Given the description of an element on the screen output the (x, y) to click on. 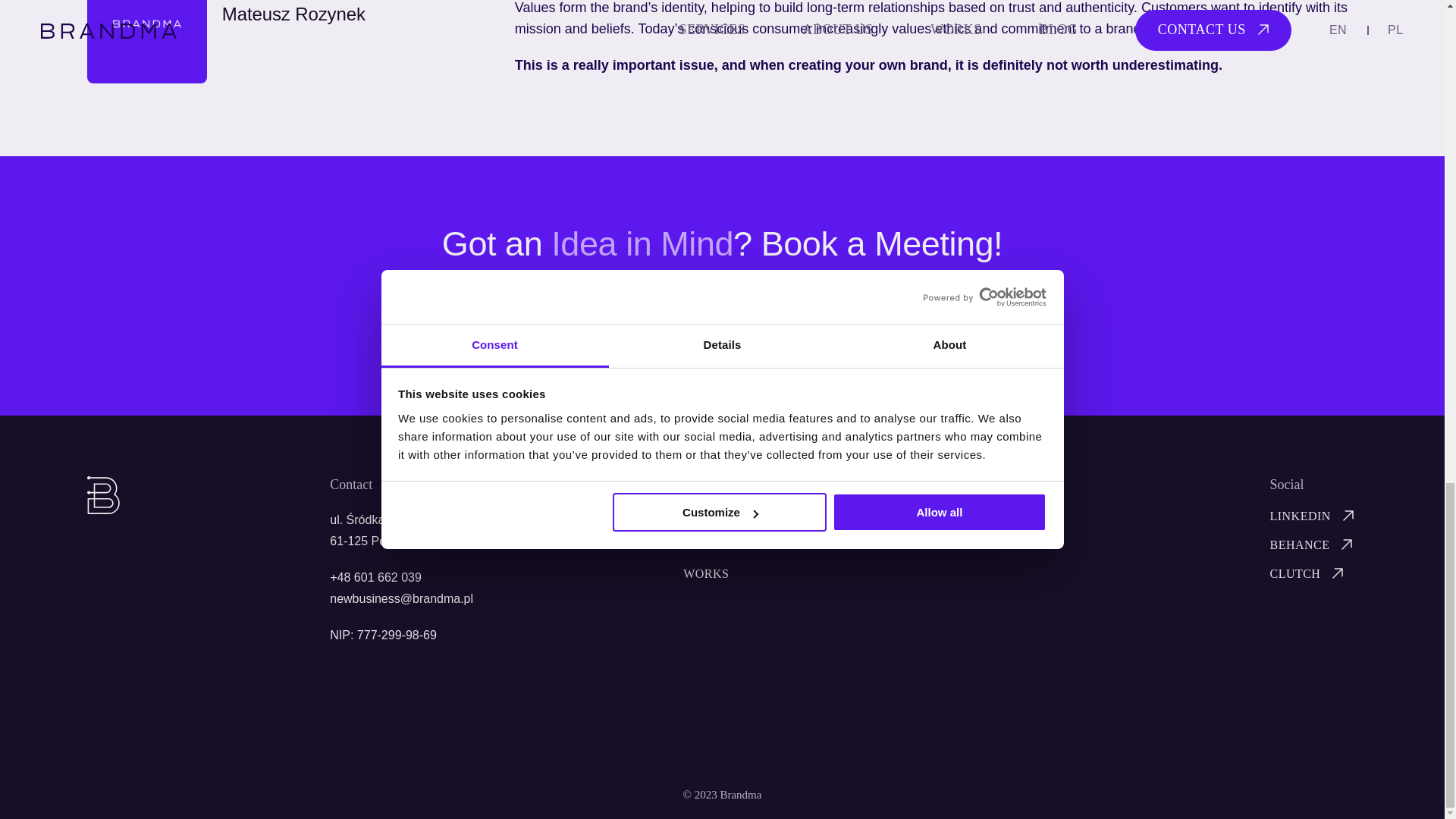
Linkedin (1312, 515)
Behance (1312, 544)
E-mail (401, 598)
Contact us (721, 330)
Clutch (1308, 573)
Phone (376, 576)
